Given the description of an element on the screen output the (x, y) to click on. 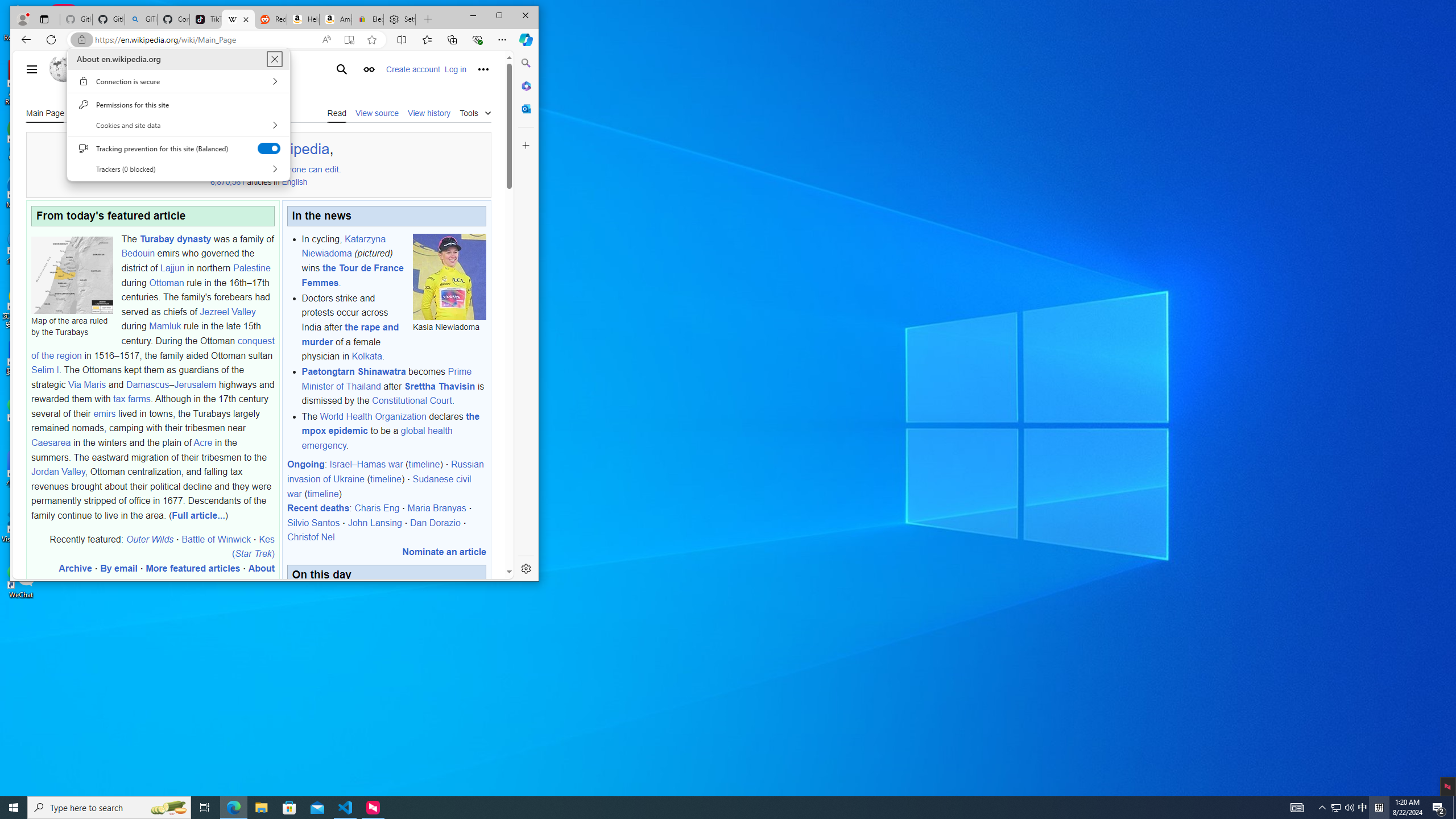
Running applications (707, 807)
Kolkata (365, 356)
View history (429, 111)
Lajjun (172, 267)
Nominate an article (443, 551)
Christof Nel (310, 537)
global health emergency (376, 437)
Ongoing (305, 464)
